Given the description of an element on the screen output the (x, y) to click on. 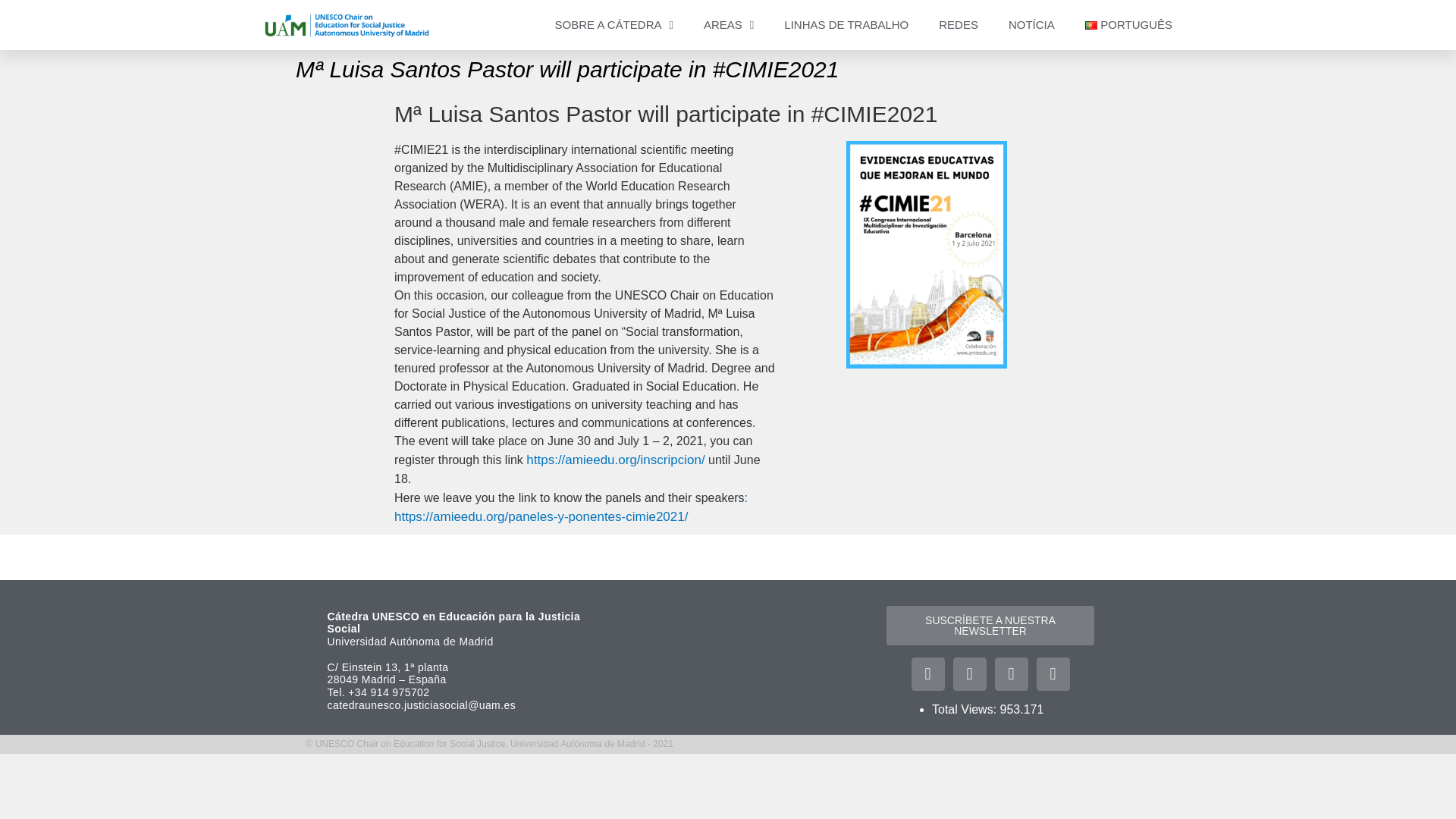
LINHAS DE TRABALHO (845, 24)
AREAS (728, 24)
REDES (957, 24)
